Given the description of an element on the screen output the (x, y) to click on. 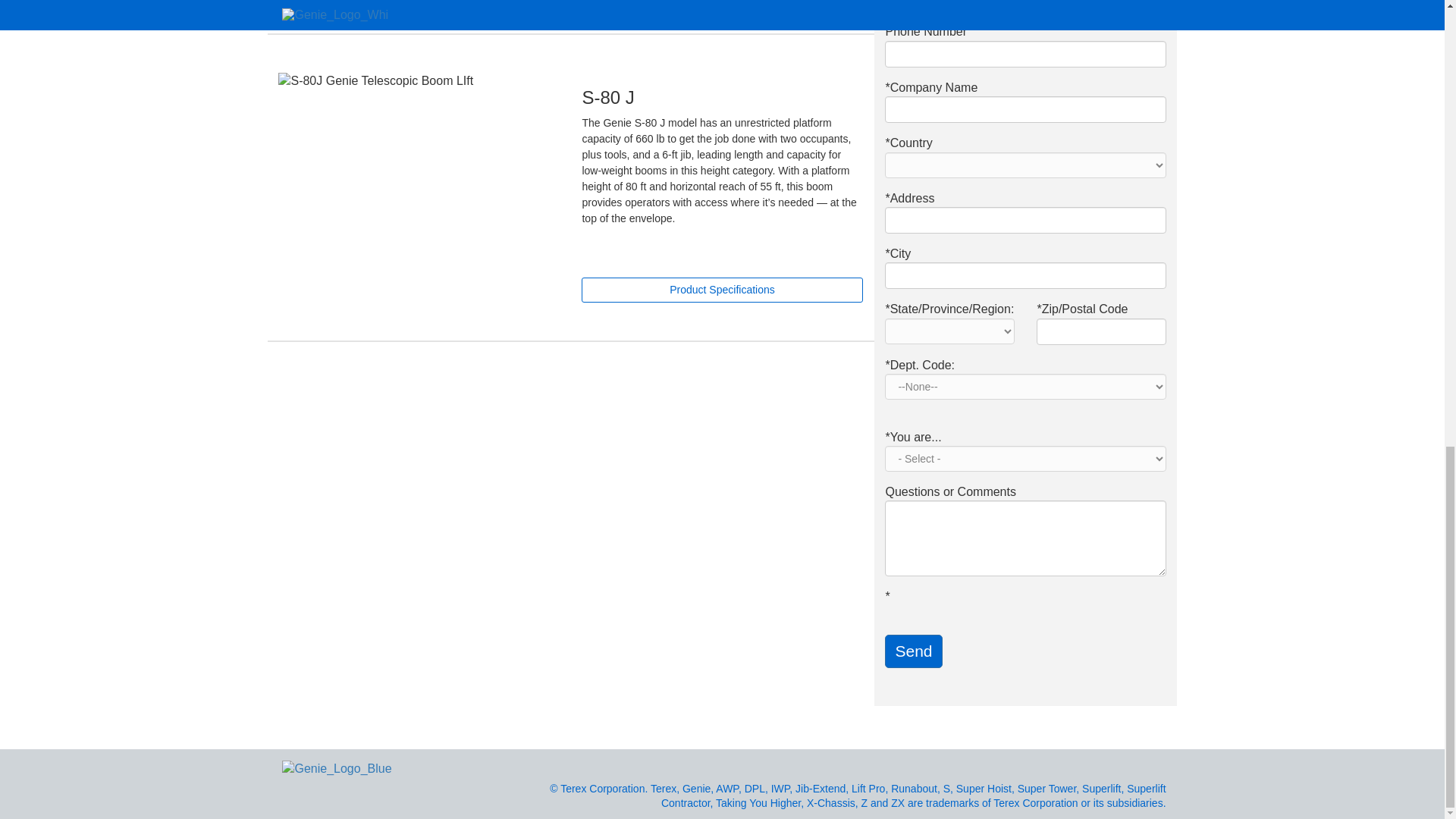
Genielift's YouTube (1083, 765)
S-80J Genie Telescopic Boom LIft (418, 80)
RSS (1142, 765)
Dept. Code (1025, 386)
Email Us (1162, 765)
Genielift's LinkedIn (1122, 765)
State (949, 330)
Genielift's Twitter (1044, 765)
Genielift's Facebook (1063, 765)
Product Specifications (720, 289)
Send (913, 650)
Product Specifications (720, 289)
Genielift's Instagram (1102, 765)
